Given the description of an element on the screen output the (x, y) to click on. 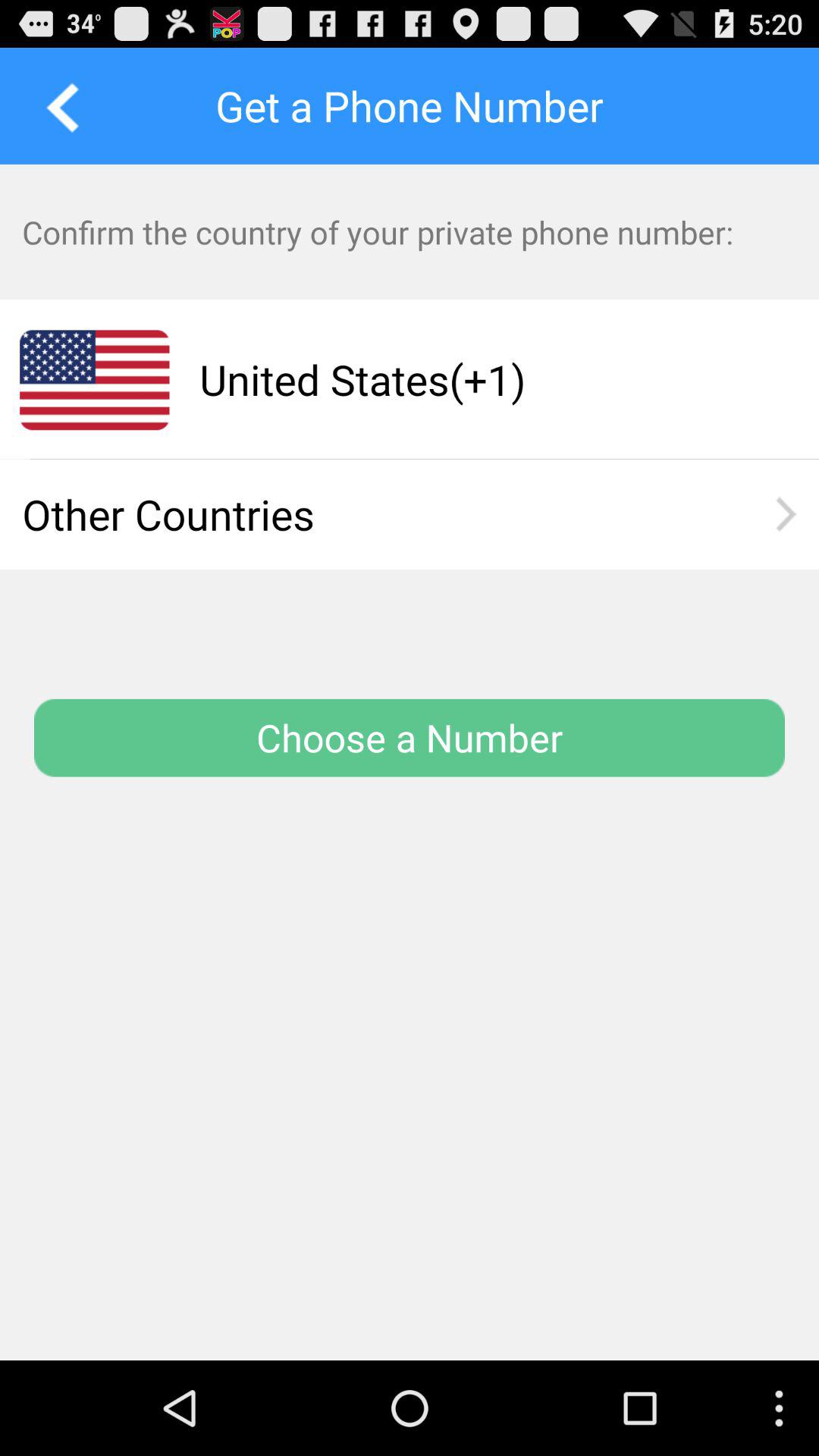
jump until the united states(+1) (479, 378)
